Given the description of an element on the screen output the (x, y) to click on. 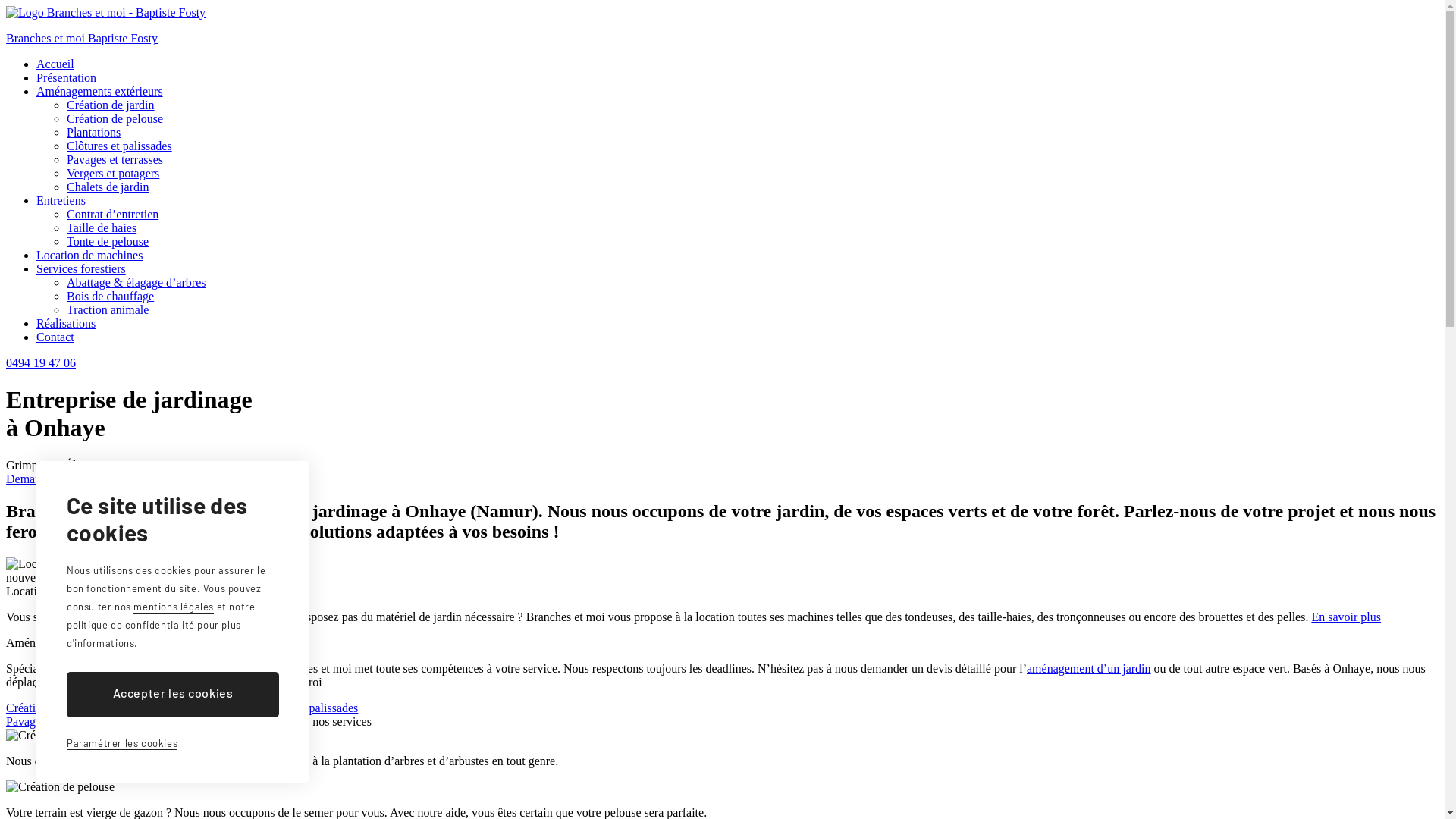
Tonte de pelouse Element type: text (107, 241)
Entretiens Element type: text (60, 200)
Accueil Element type: text (55, 63)
Plantations Element type: text (93, 131)
Pavages et terrasses Element type: text (114, 159)
0494 19 47 06 Element type: text (40, 362)
Pavages et terrasses Element type: text (54, 721)
En savoir plus Element type: text (1345, 616)
Services forestiers Element type: text (80, 268)
Contact Element type: text (55, 336)
Chalets de jardin Element type: text (107, 186)
Location de machines Element type: text (89, 254)
Bois de chauffage Element type: text (109, 295)
Traction animale Element type: text (107, 309)
Plantations Element type: text (223, 707)
Vergers et potagers Element type: text (112, 172)
Taille de haies Element type: text (101, 227)
Branches et moi Baptiste Fosty Element type: text (722, 25)
Vergers et potagers Element type: text (151, 721)
Demandez votre devis gratuit Element type: text (77, 478)
Chalets de jardin Element type: text (241, 721)
